Given the description of an element on the screen output the (x, y) to click on. 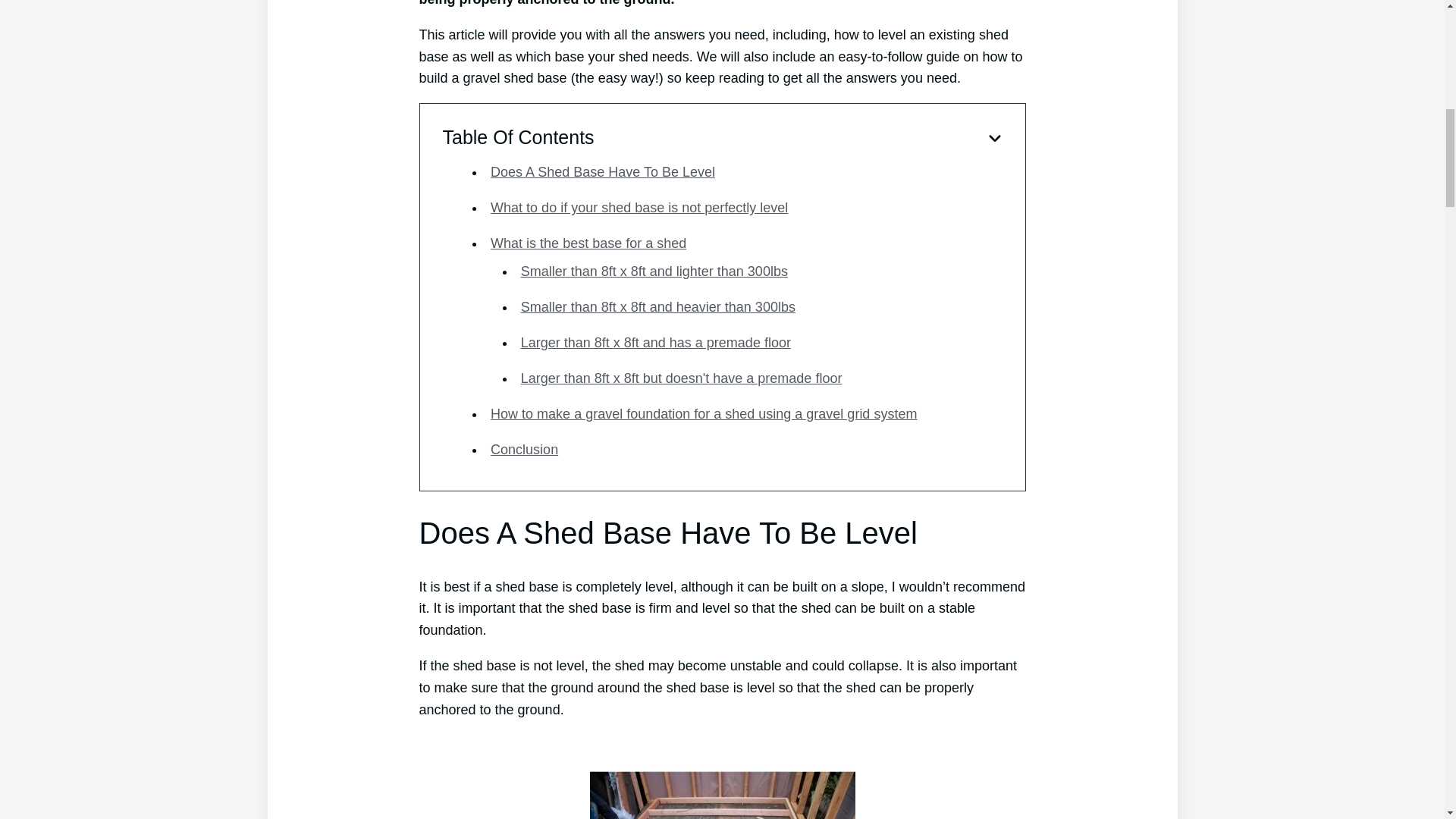
What to do if your shed base is not perfectly level (638, 207)
What is the best base for a shed (587, 242)
Larger than 8ft x 8ft but doesn't have a premade floor (682, 378)
Conclusion (523, 449)
Does A Shed Base Have To Be Level (602, 171)
Smaller than 8ft x 8ft and lighter than 300lbs (654, 271)
Smaller than 8ft x 8ft and heavier than 300lbs (657, 306)
Larger than 8ft x 8ft and has a premade floor (655, 342)
